Given the description of an element on the screen output the (x, y) to click on. 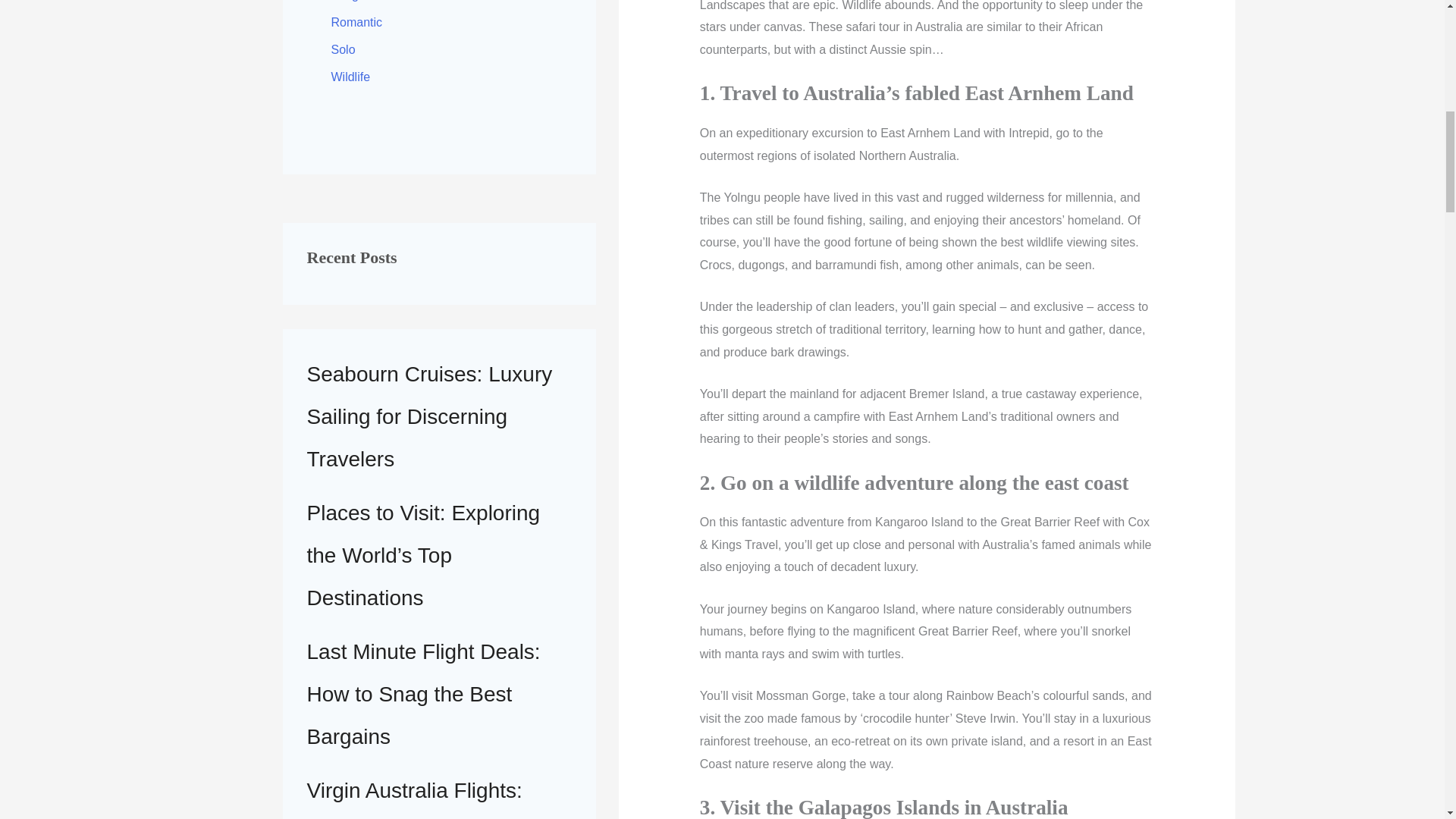
Seabourn Cruises: Luxury Sailing for Discerning Travelers (428, 416)
Solo (342, 49)
Last Minute Flight Deals: How to Snag the Best Bargains (422, 693)
Wildlife (349, 76)
Religious (355, 0)
Virgin Australia Flights: Making Every Journey Memorable (413, 798)
Romantic (355, 21)
